Given the description of an element on the screen output the (x, y) to click on. 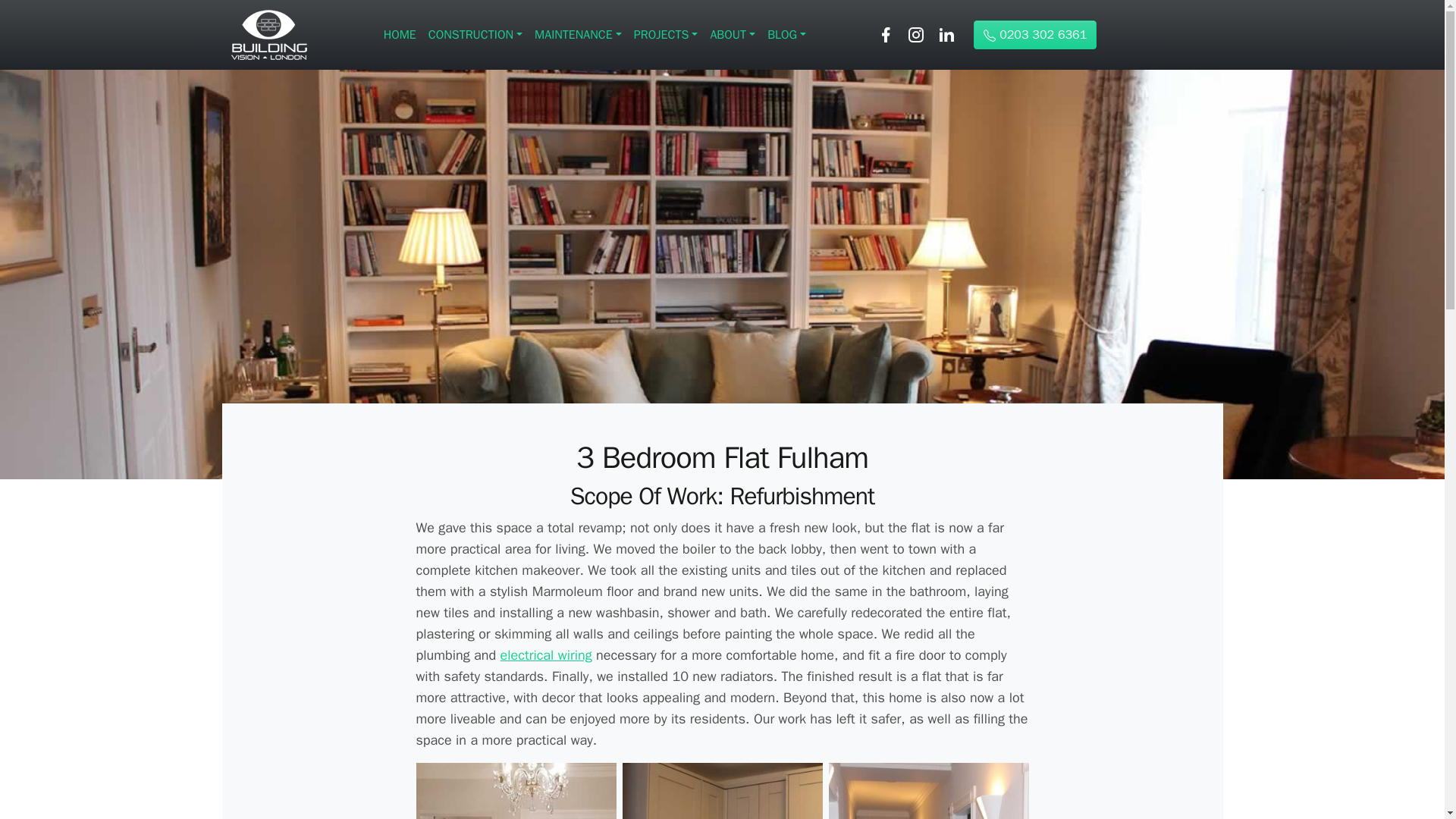
BLOG (786, 34)
HOME (399, 34)
CONSTRUCTION (475, 34)
ABOUT (732, 34)
MAINTENANCE (577, 34)
PROJECTS (665, 34)
